Given the description of an element on the screen output the (x, y) to click on. 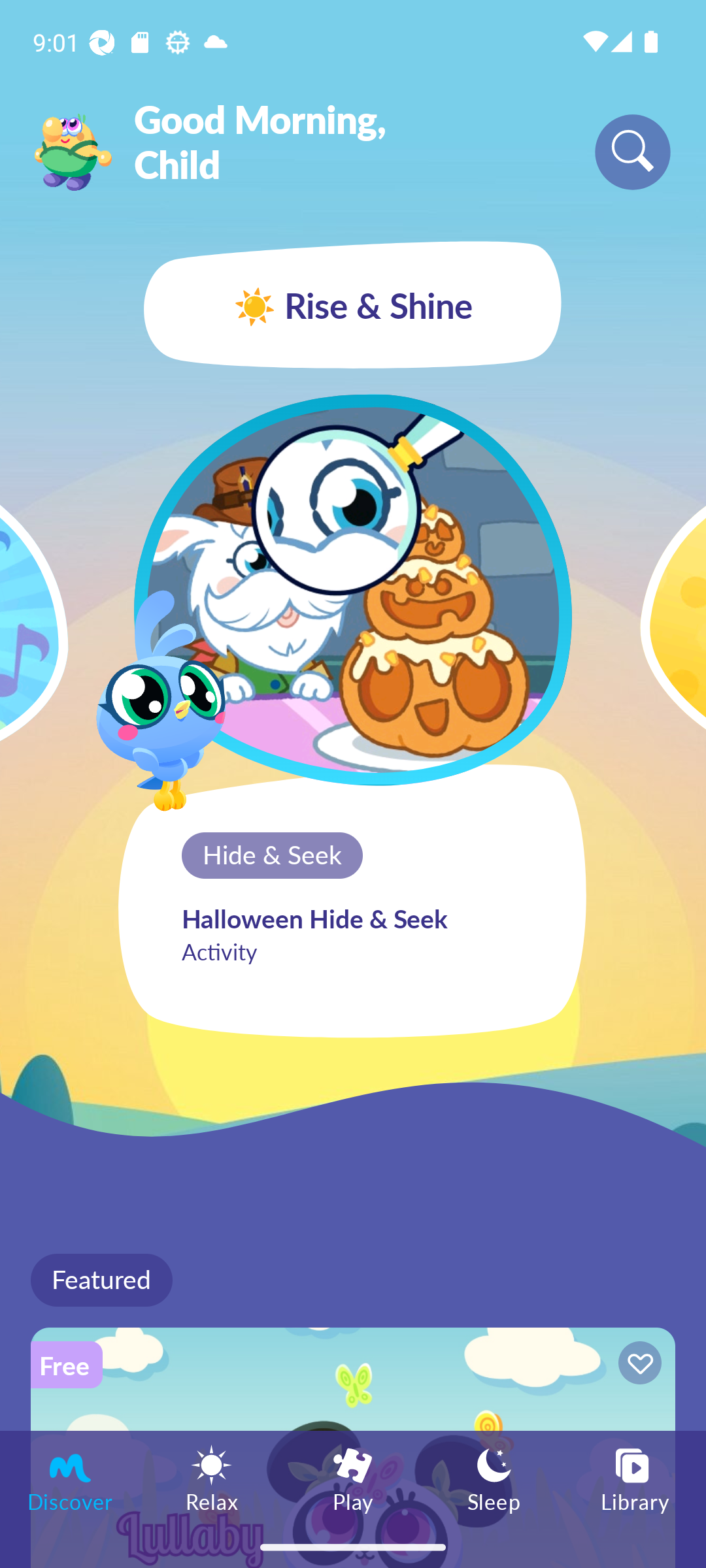
Search (632, 151)
Button (636, 1365)
Relax (211, 1478)
Play (352, 1478)
Sleep (493, 1478)
Library (635, 1478)
